Given the description of an element on the screen output the (x, y) to click on. 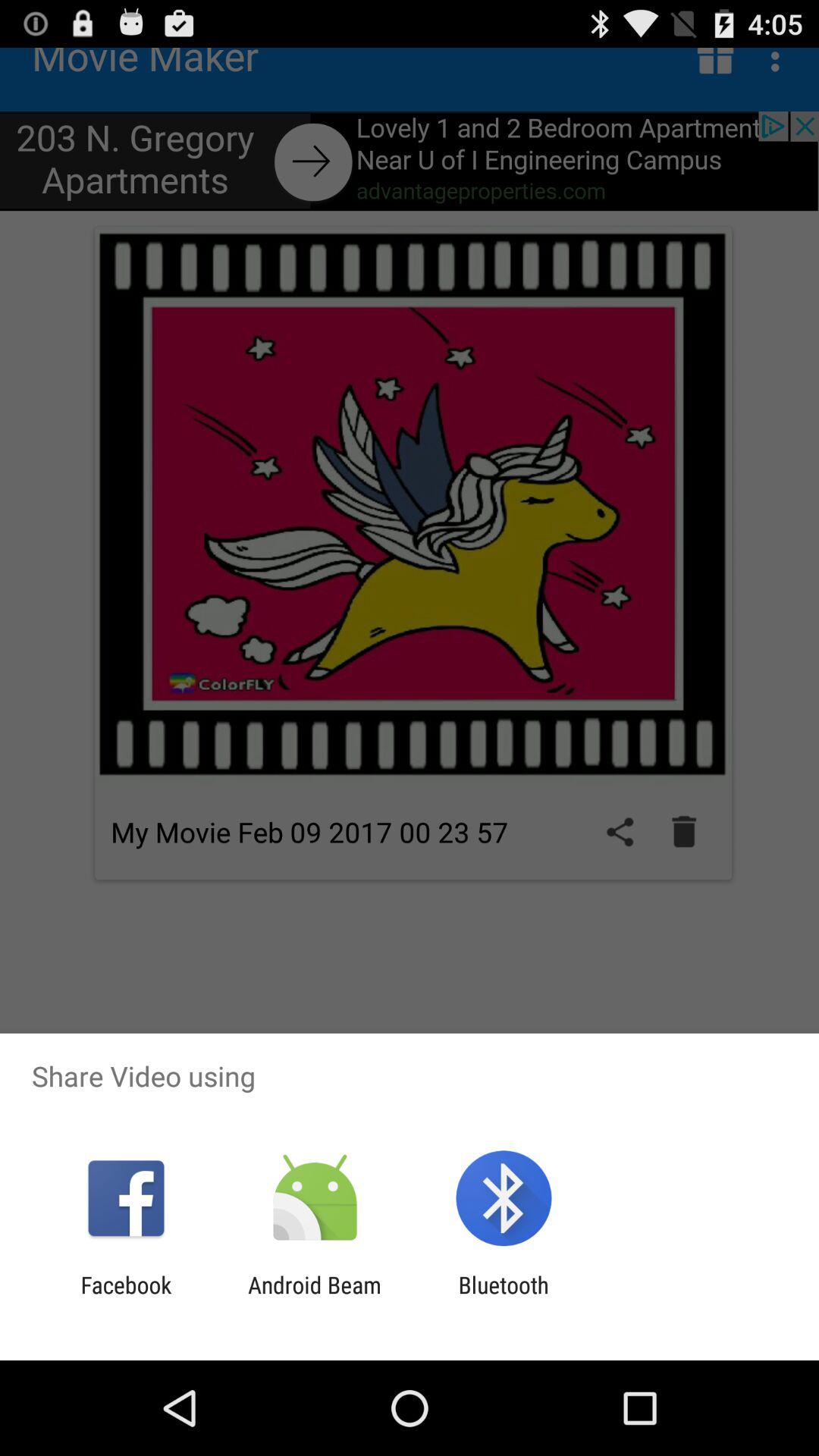
flip until facebook (125, 1298)
